Given the description of an element on the screen output the (x, y) to click on. 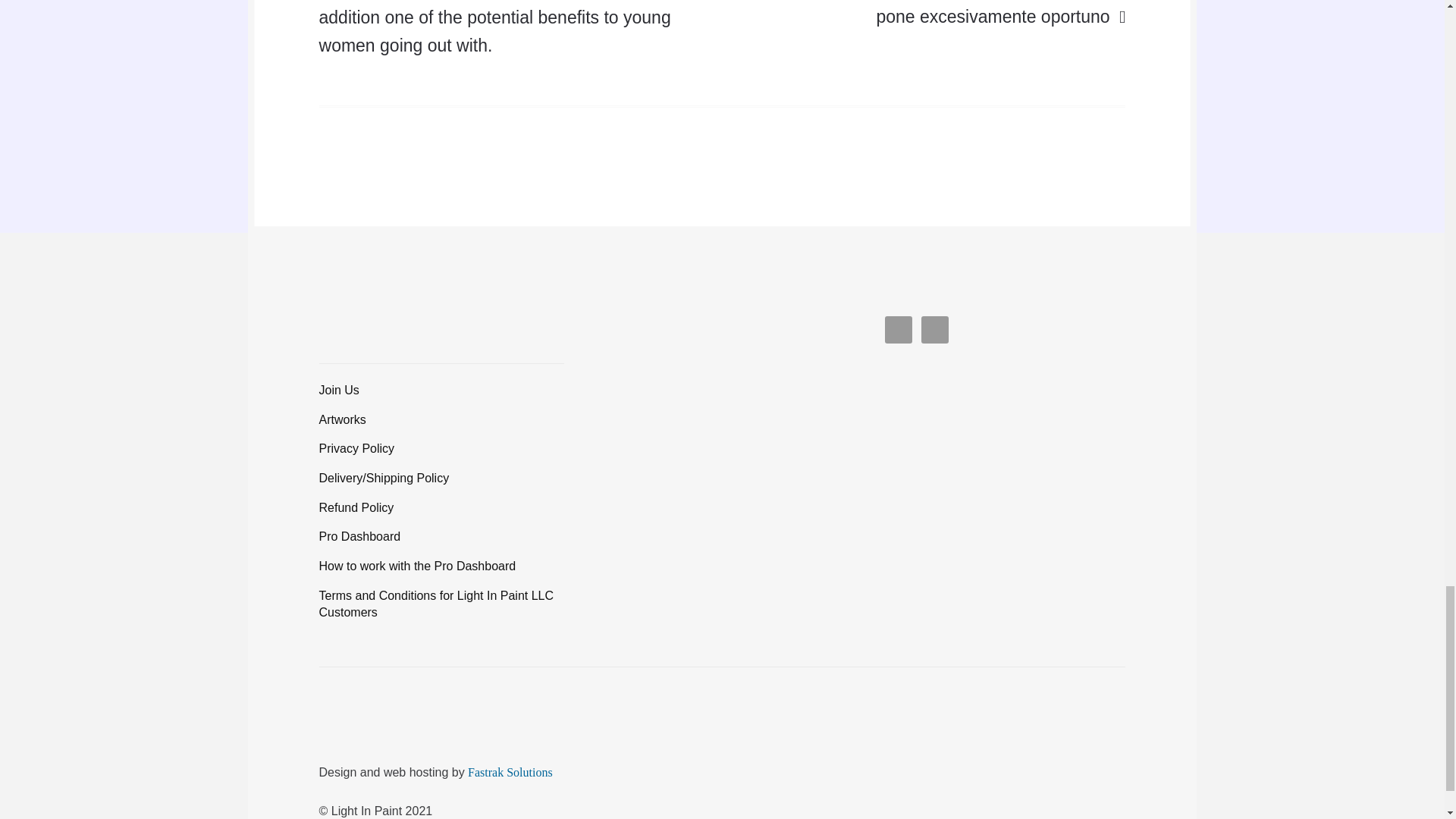
Join Us (338, 390)
Privacy Policy (356, 448)
Artworks (342, 419)
